Given the description of an element on the screen output the (x, y) to click on. 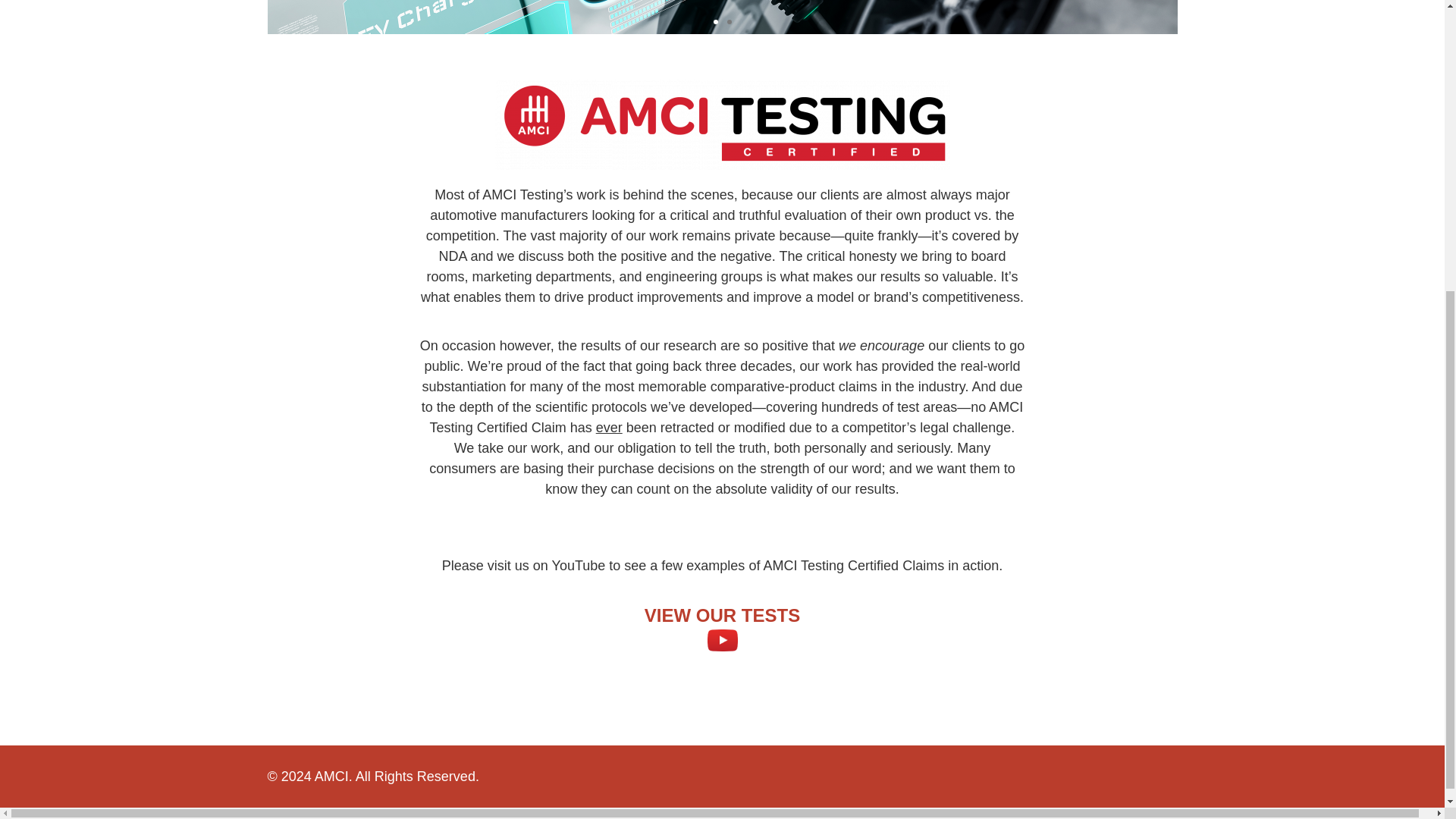
VIEW OUR TESTS (722, 615)
